Given the description of an element on the screen output the (x, y) to click on. 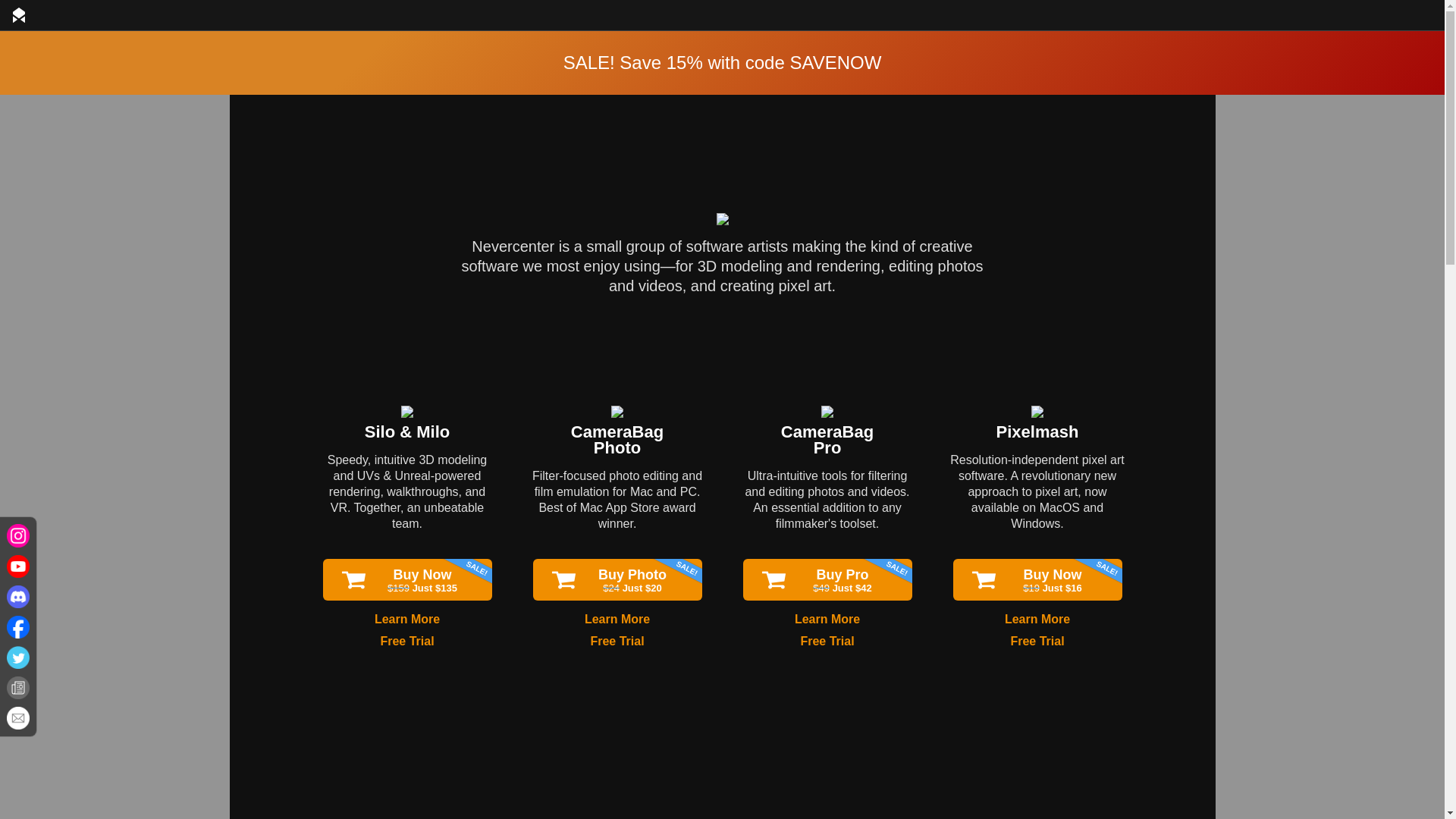
Free Trial (616, 439)
Pixelmash (616, 640)
Free Trial (1036, 431)
Free Trial (826, 640)
Learn More (406, 640)
Learn More (1037, 618)
Learn More (827, 618)
Free Trial (826, 439)
Learn More (617, 618)
